Given the description of an element on the screen output the (x, y) to click on. 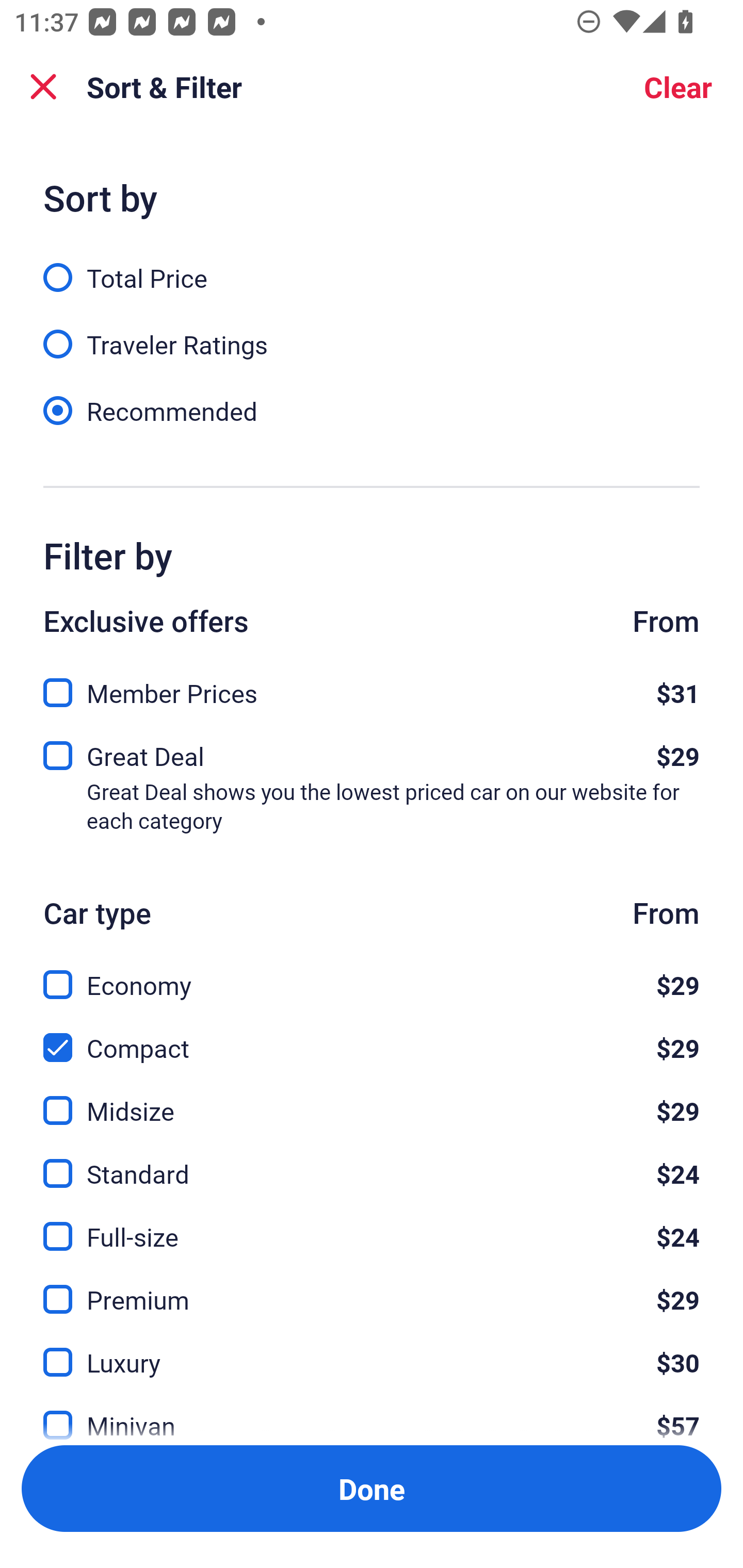
Close Sort and Filter (43, 86)
Clear (677, 86)
Total Price (371, 266)
Traveler Ratings (371, 332)
Member Prices, $31 Member Prices $31 (371, 686)
Economy, $29 Economy $29 (371, 973)
Compact, $29 Compact $29 (371, 1036)
Midsize, $29 Midsize $29 (371, 1098)
Standard, $24 Standard $24 (371, 1161)
Full-size, $24 Full-size $24 (371, 1224)
Premium, $29 Premium $29 (371, 1286)
Luxury, $30 Luxury $30 (371, 1350)
Minivan, $57 Minivan $57 (371, 1413)
Apply and close Sort and Filter Done (371, 1488)
